Given the description of an element on the screen output the (x, y) to click on. 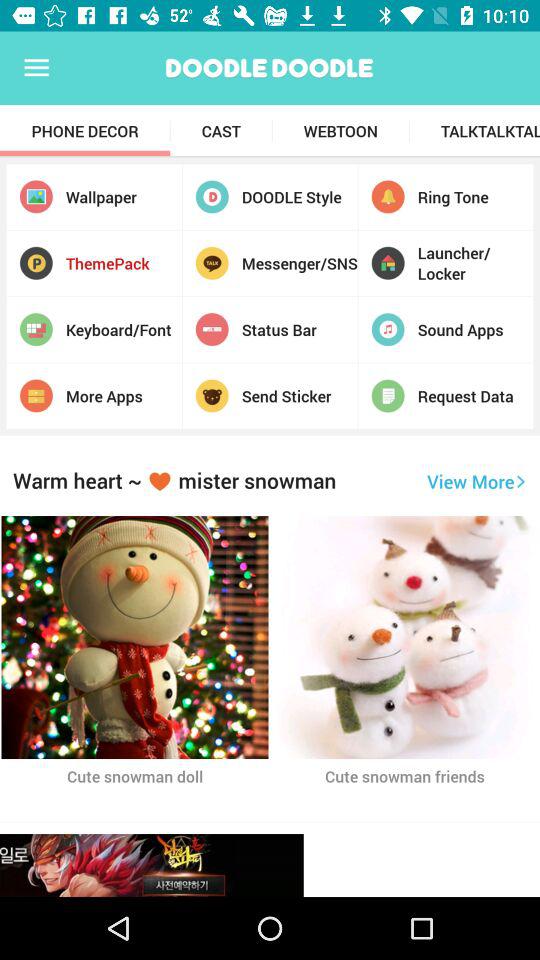
launch the icon next to the talktalktalk app (340, 131)
